Given the description of an element on the screen output the (x, y) to click on. 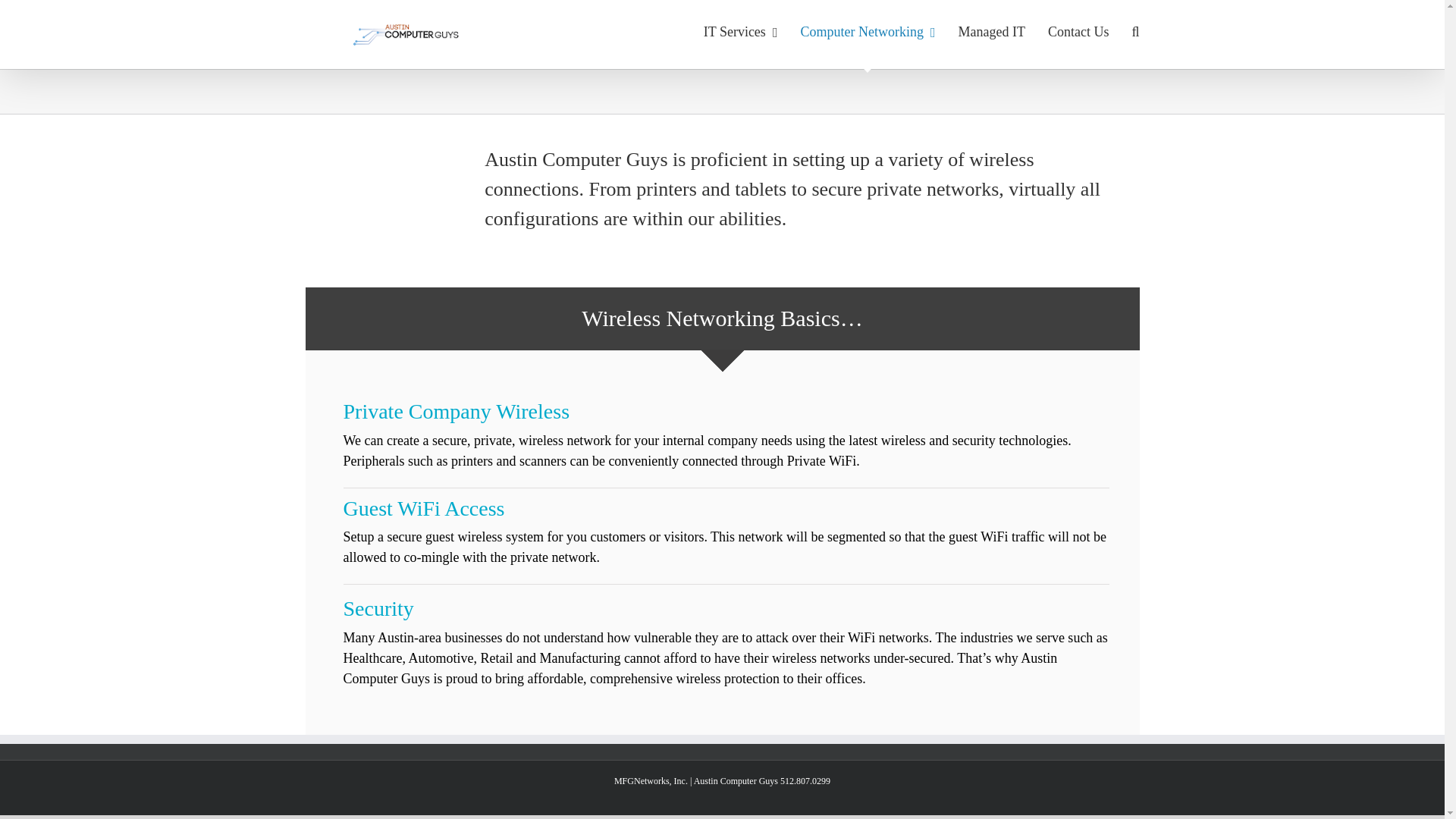
IT Services (740, 31)
Contact Us (1078, 31)
Computer Networking (866, 31)
Managed IT (991, 31)
